Given the description of an element on the screen output the (x, y) to click on. 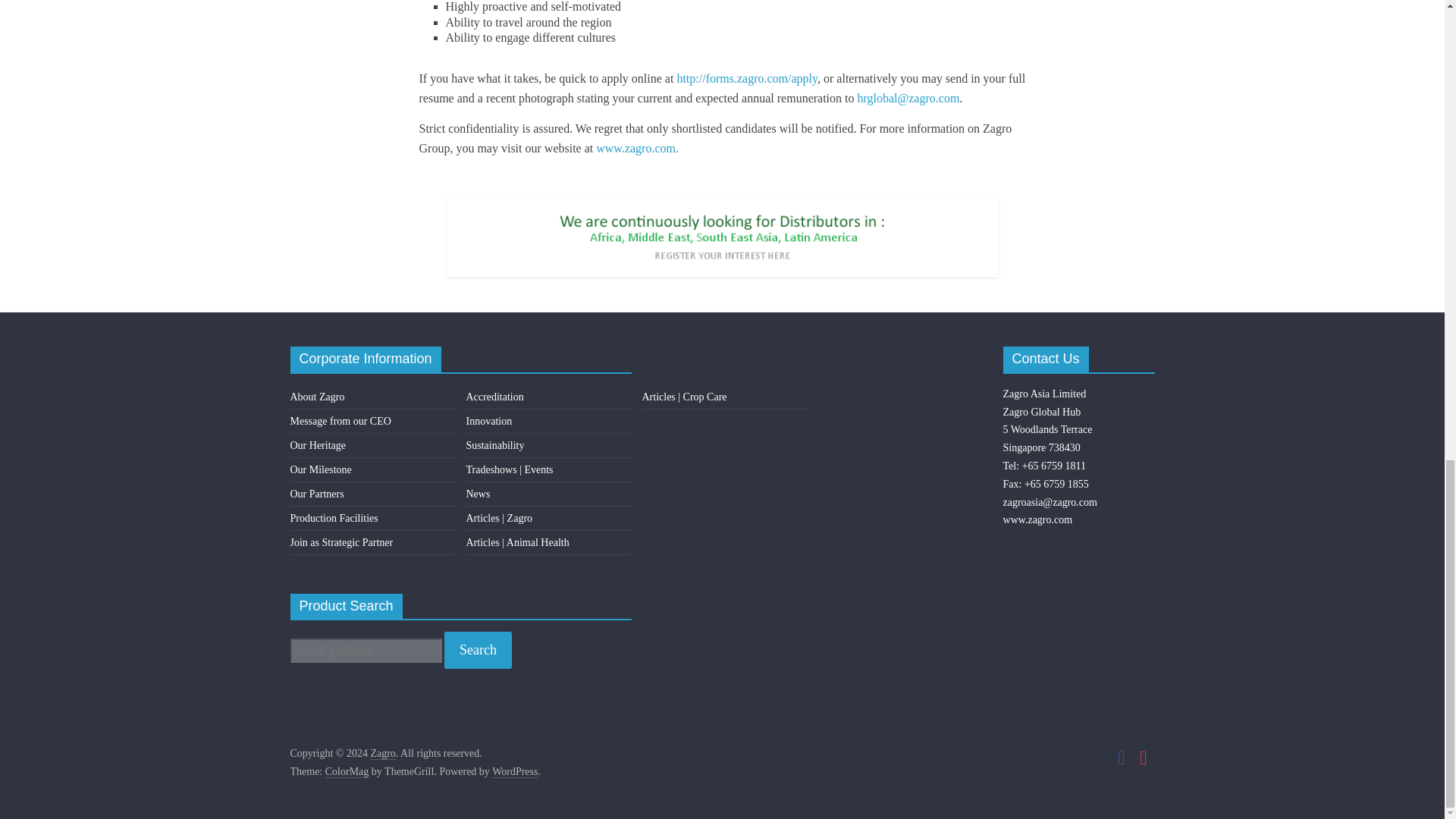
WordPress (514, 771)
ColorMag (346, 771)
Zagro (381, 753)
